Given the description of an element on the screen output the (x, y) to click on. 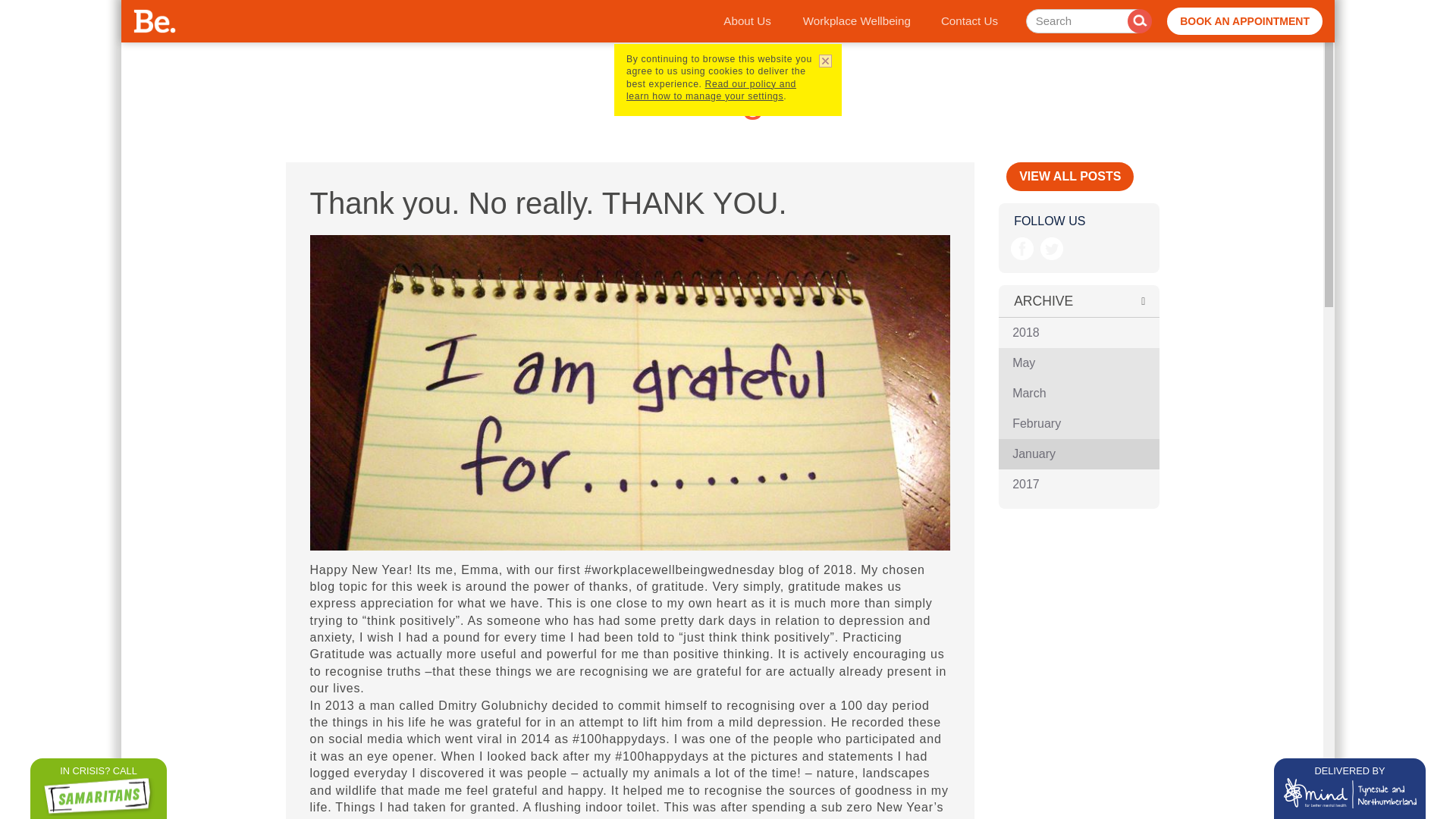
Contact Us (969, 21)
Facebook (1022, 249)
Twitter (1052, 249)
Follow Be Therapy Centre on Facebook (1022, 249)
Close this message (823, 62)
Workplace Wellbeing (856, 21)
VIEW ALL POSTS (1070, 176)
March (1078, 393)
Close (823, 62)
About Us (746, 21)
February (1078, 423)
2017 (1078, 484)
2018 (1078, 332)
January (1078, 453)
May (1078, 363)
